Given the description of an element on the screen output the (x, y) to click on. 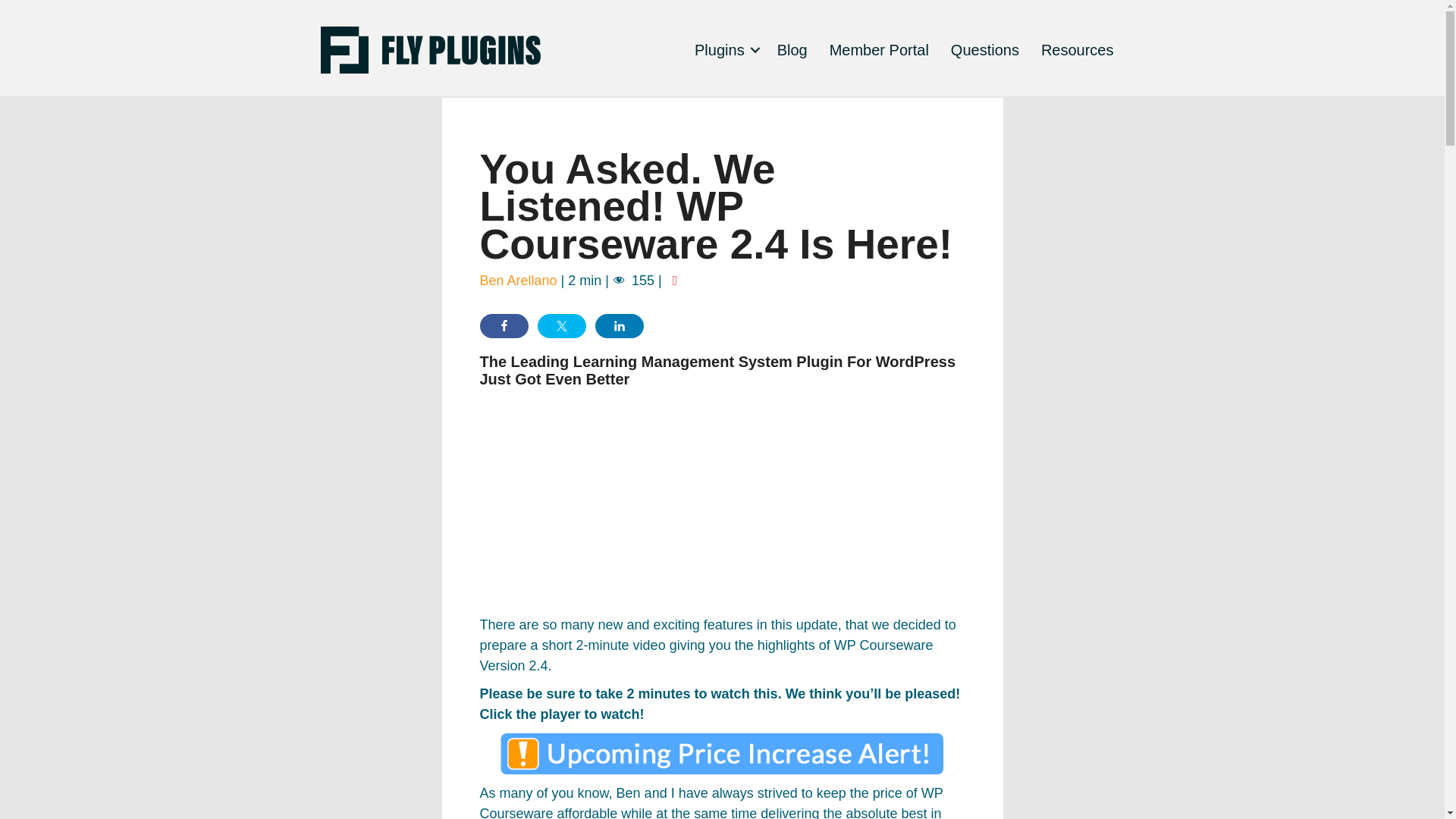
Fly Plugins (724, 49)
Share on LinkedIn (618, 325)
Questions (984, 49)
Share on Twitter (561, 325)
See What's New in WP Courseware 2.4! (669, 502)
Ben Arellano (517, 280)
Share on Facebook (503, 325)
Resources (1077, 49)
Plugins (724, 49)
Member Portal (878, 49)
Blog (792, 49)
fly plugins logo (430, 49)
